Given the description of an element on the screen output the (x, y) to click on. 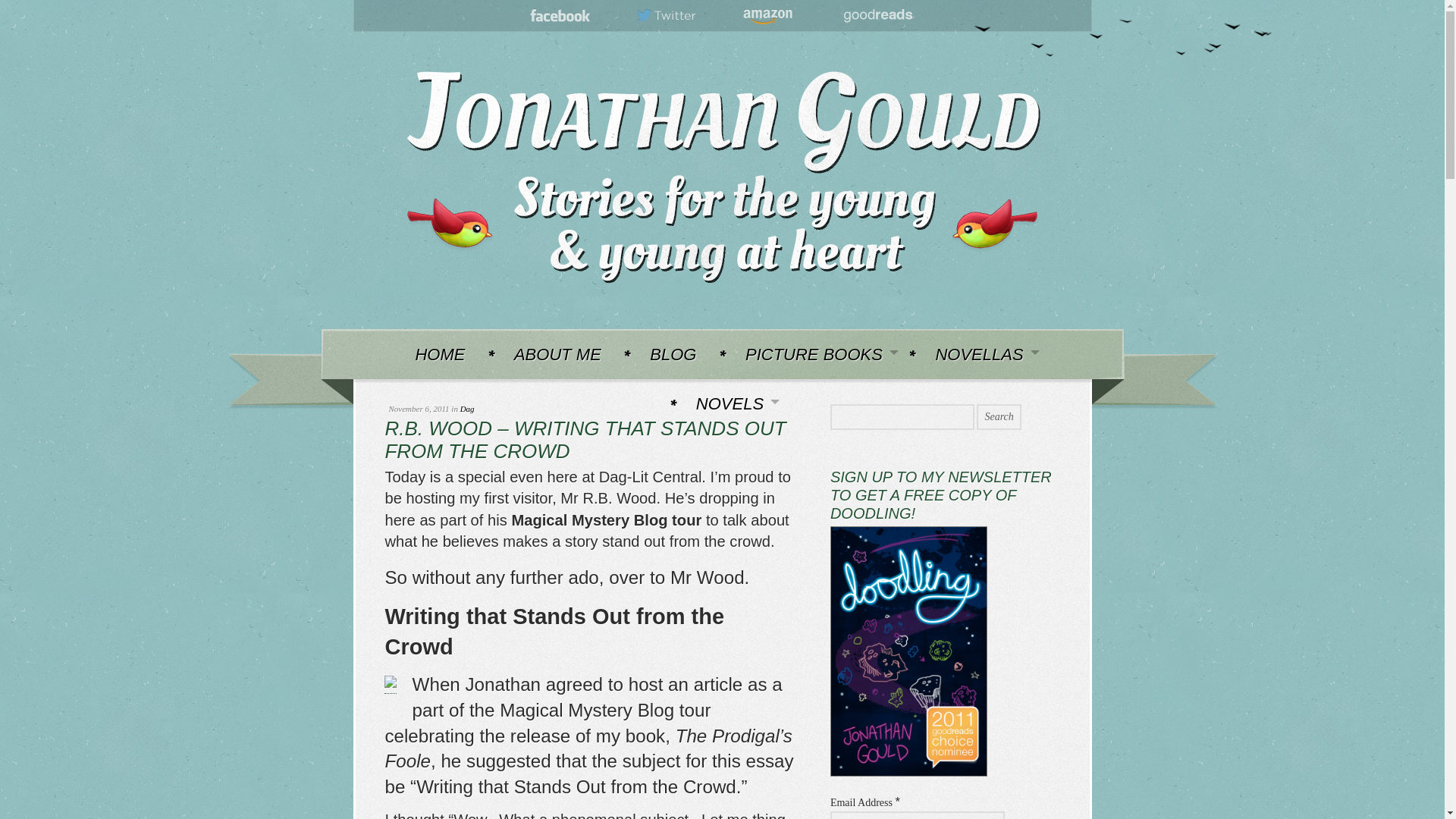
amazon (767, 16)
PICTURE BOOKS (815, 354)
Search (998, 416)
ABOUT ME (557, 354)
HOME (439, 354)
Search (998, 416)
twitter (666, 16)
NOVELLAS (980, 354)
NOVELS (731, 403)
BLOG (673, 354)
Dag (467, 408)
mixcloud (877, 16)
facebook (560, 16)
